Given the description of an element on the screen output the (x, y) to click on. 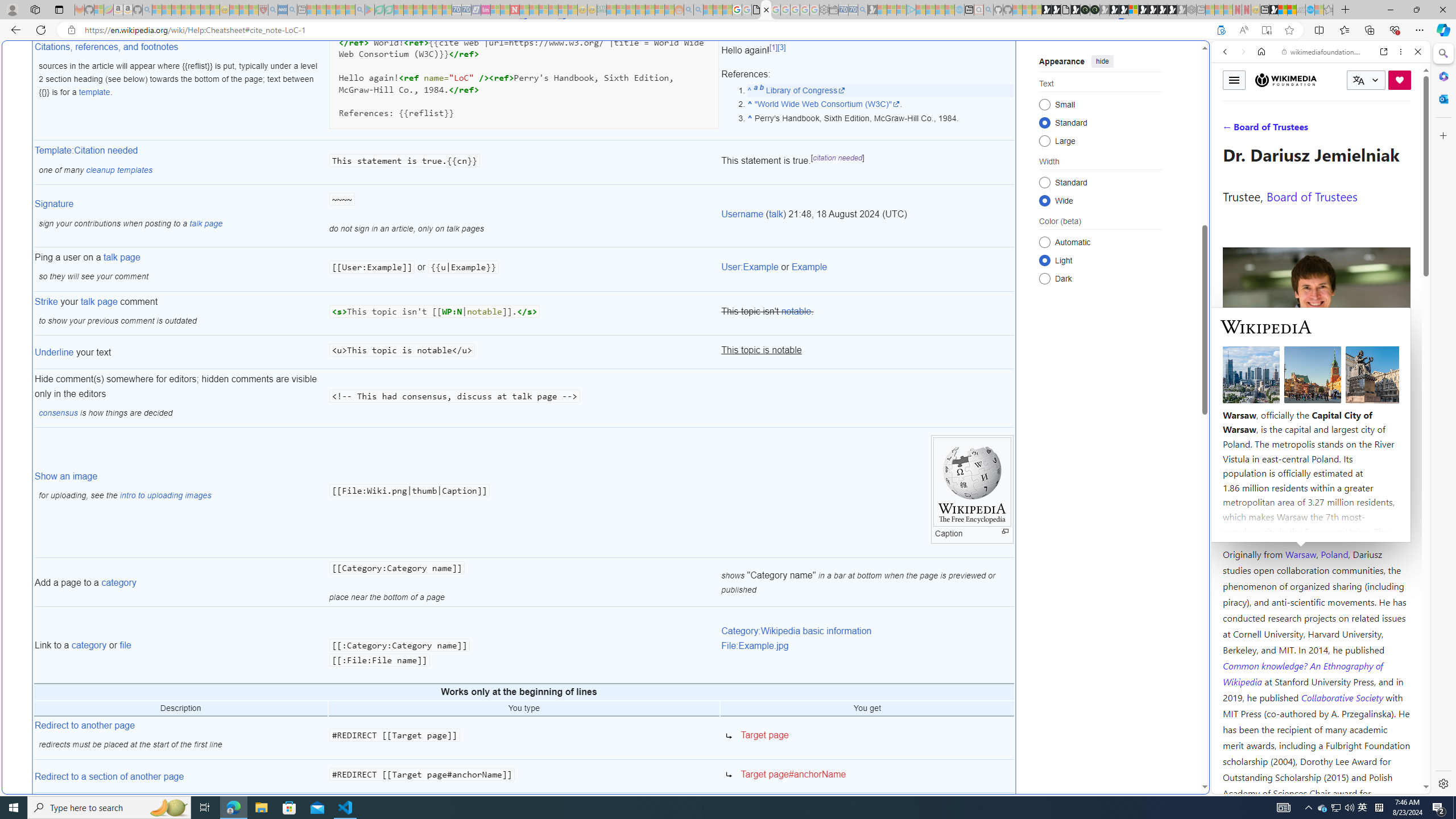
category (88, 645)
<s>This topic isn't [[WP:N|notable]].</s> (523, 313)
Class: mw-list-item mw-list-item-js (1100, 259)
Wiktionary (1315, 380)
[[File:Wiki.png|thumb|Caption]] (523, 492)
consensus (58, 412)
 Target page#anchorName (866, 776)
